Given the description of an element on the screen output the (x, y) to click on. 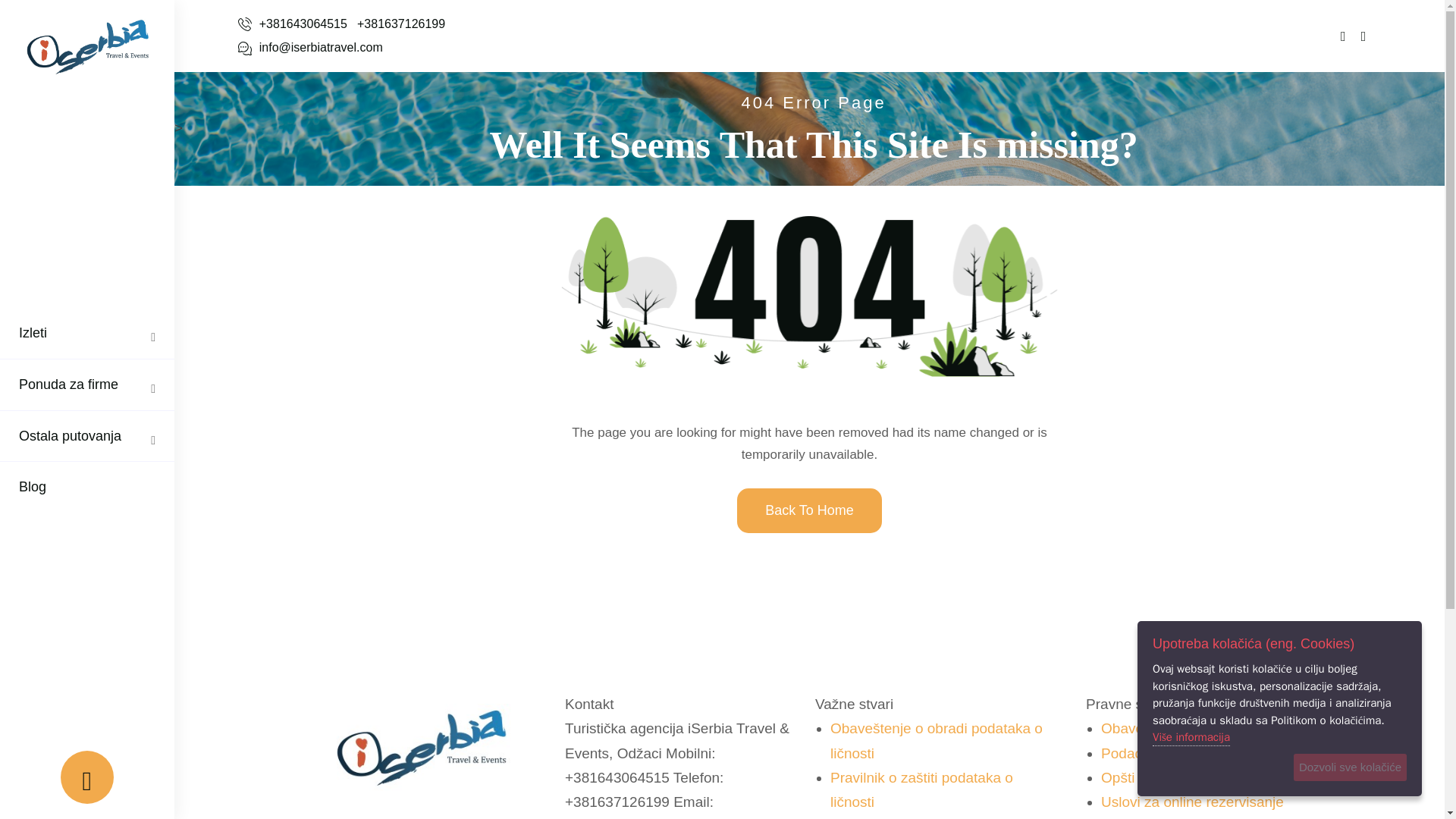
Izleti (33, 332)
Back To Home (809, 510)
Blog (32, 486)
Ostala putovanja (70, 435)
Ponuda za firme (68, 384)
Uslovi za online rezervisanje (1192, 801)
Podaci za identifikaciju (1173, 753)
